Given the description of an element on the screen output the (x, y) to click on. 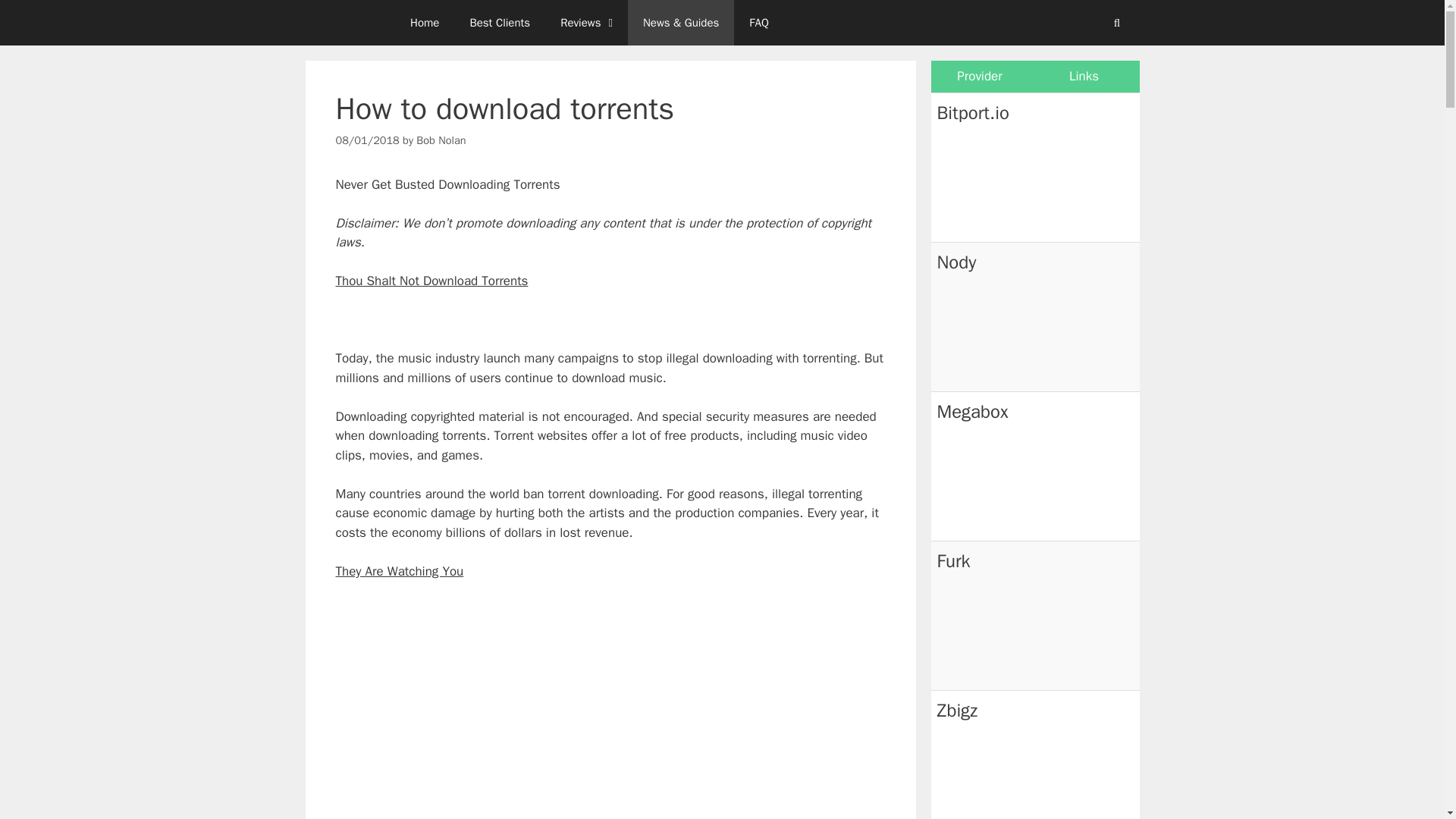
Home (424, 22)
FAQ (758, 22)
Torrent Advice (345, 22)
View all posts by Bob Nolan (440, 140)
Search (1116, 22)
Best Clients (499, 22)
Bob Nolan (440, 140)
3:31 pm (366, 140)
